Given the description of an element on the screen output the (x, y) to click on. 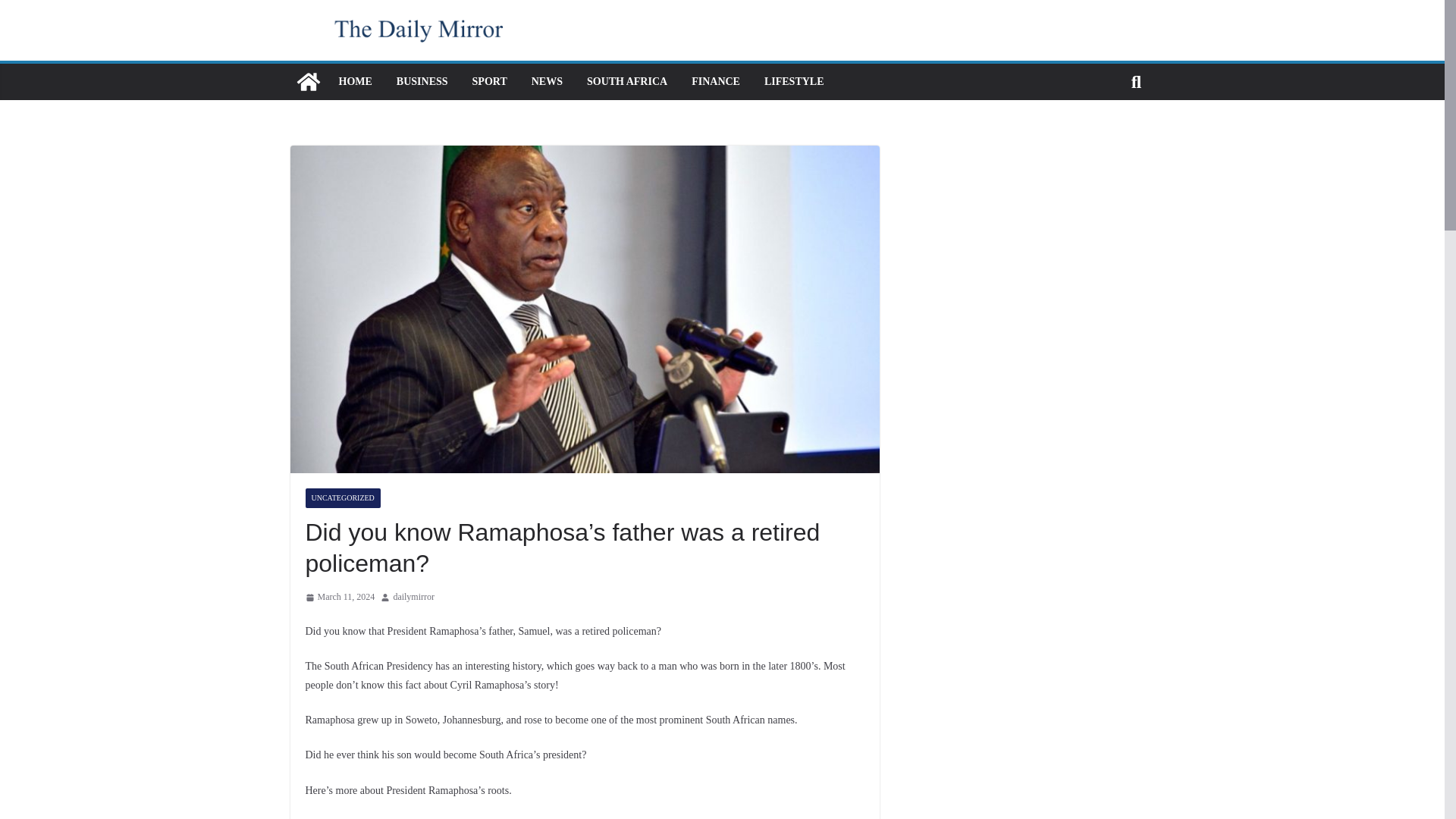
SPORT (488, 81)
UNCATEGORIZED (342, 497)
The Daily Mirror (307, 81)
10:26 am (339, 597)
dailymirror (413, 597)
NEWS (546, 81)
HOME (354, 81)
dailymirror (413, 597)
FINANCE (715, 81)
LIFESTYLE (794, 81)
